Given the description of an element on the screen output the (x, y) to click on. 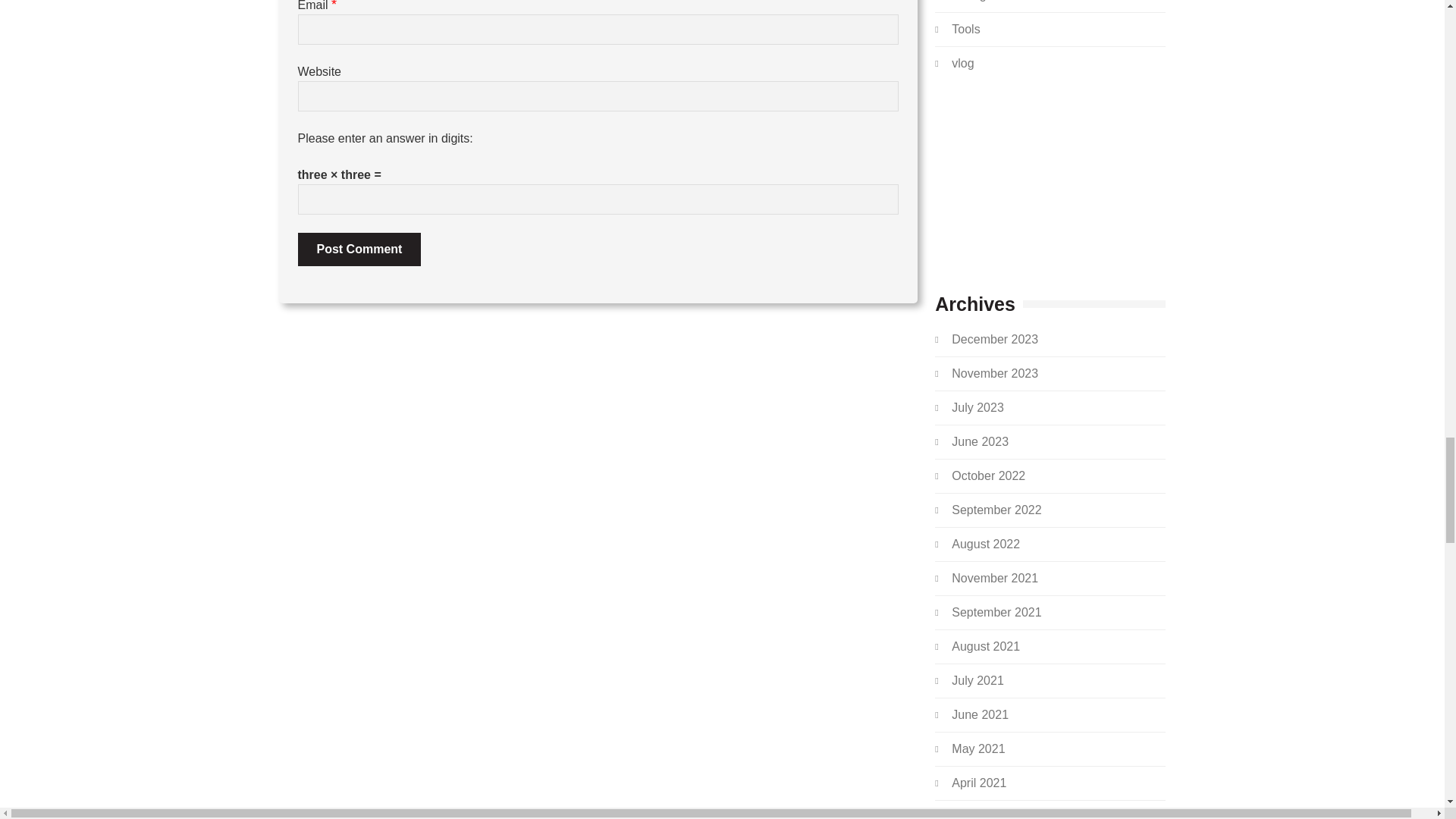
Advertisement (1050, 182)
Post Comment (358, 249)
